Given the description of an element on the screen output the (x, y) to click on. 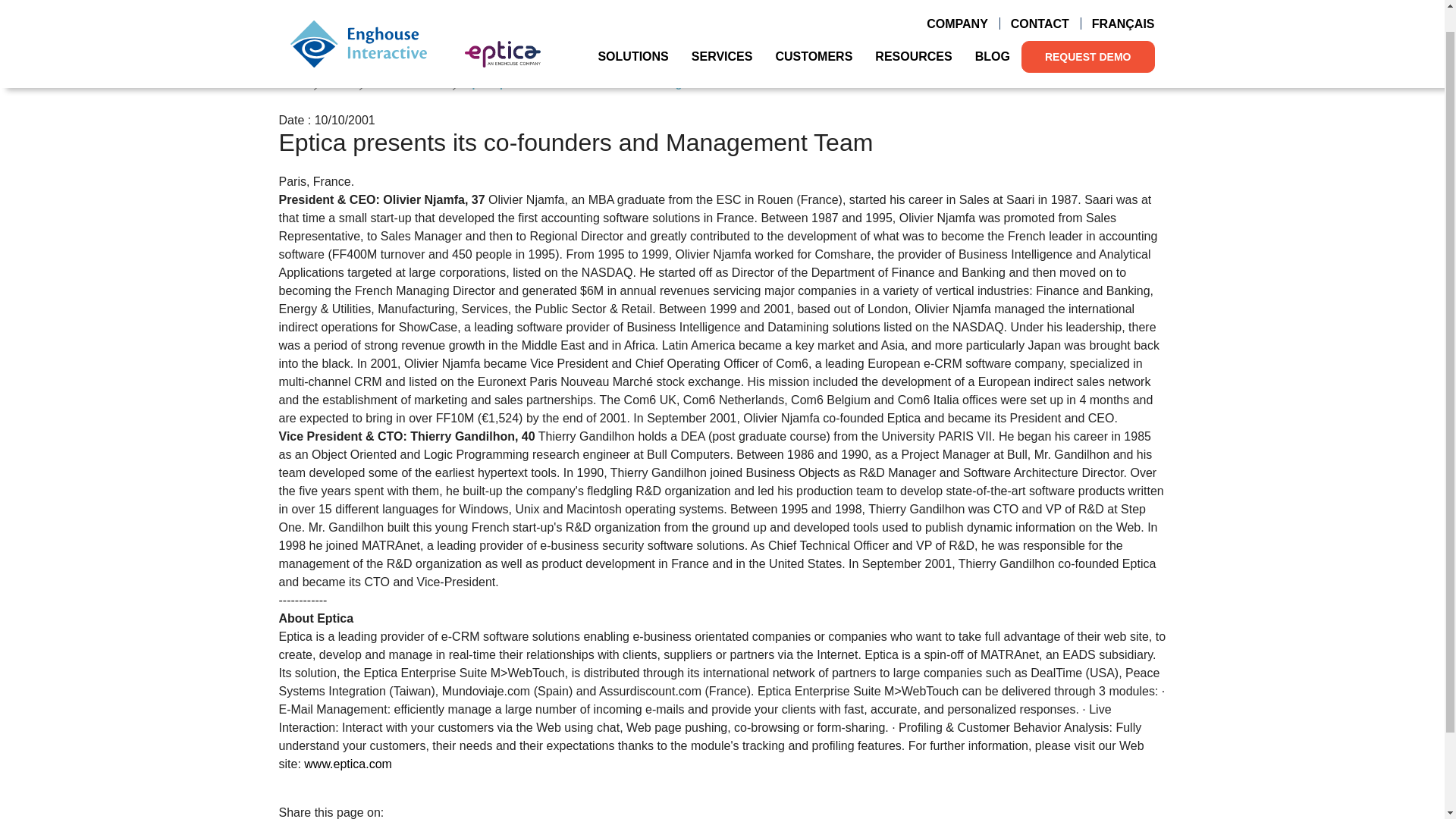
CONTACT (1039, 4)
RESOURCES (913, 32)
SOLUTIONS (632, 32)
CUSTOMERS (812, 32)
SERVICES (721, 32)
Home (357, 21)
COMPANY (956, 4)
